Given the description of an element on the screen output the (x, y) to click on. 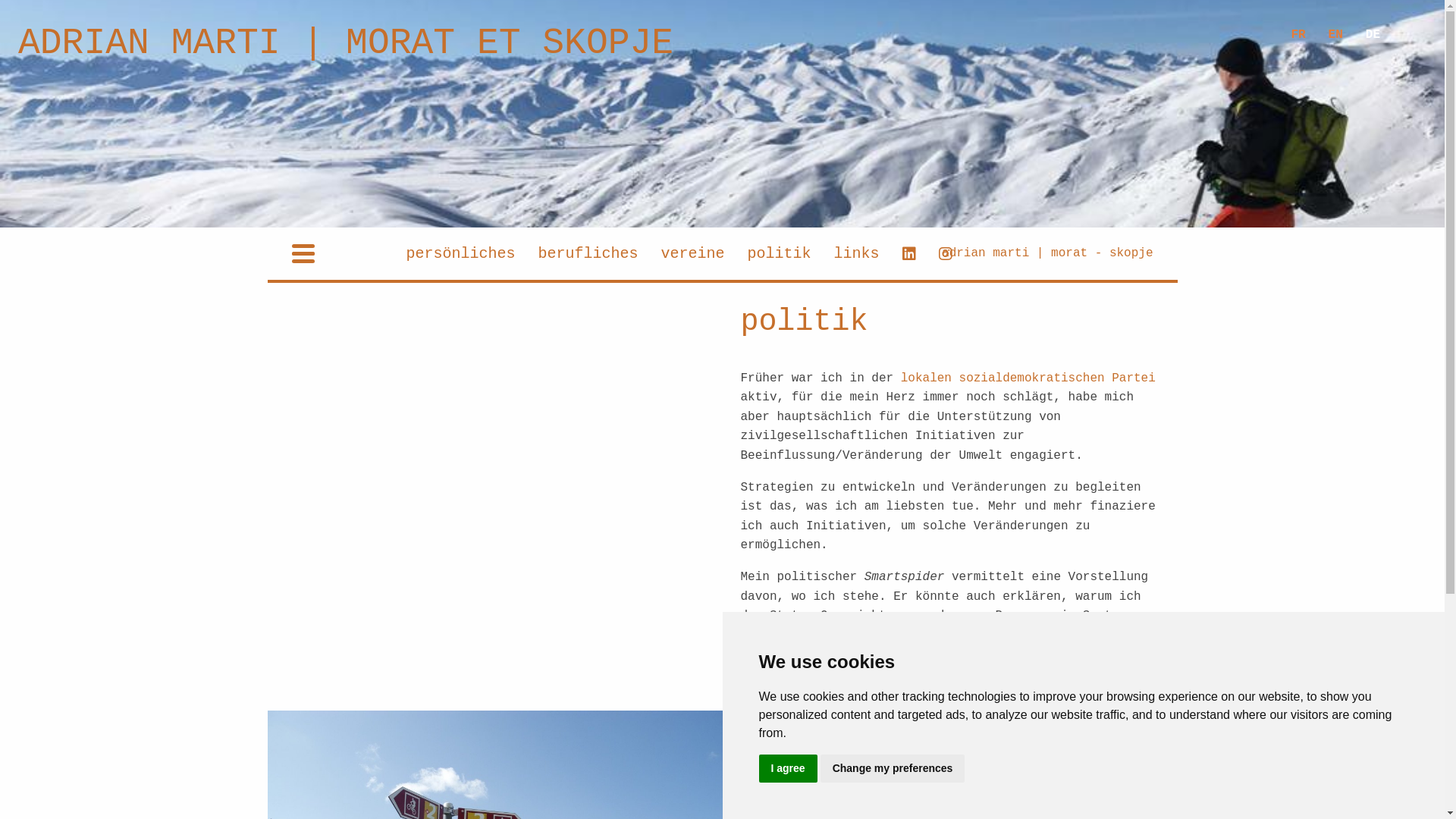
berufliches Element type: text (587, 253)
politik Element type: text (778, 253)
adrian marti | morat - skopje Element type: text (1046, 252)
ADRIAN MARTI | MORAT ET SKOPJE Element type: text (345, 42)
I agree Element type: text (787, 768)
Change my preferences Element type: text (892, 768)
FR Element type: text (1297, 34)
links Element type: text (855, 253)
DE Element type: text (1372, 34)
EN Element type: text (1335, 34)
Bilinguisme Element type: text (780, 788)
lokalen sozialdemokratischen Partei Element type: text (1024, 378)
vereine Element type: text (692, 253)
